Given the description of an element on the screen output the (x, y) to click on. 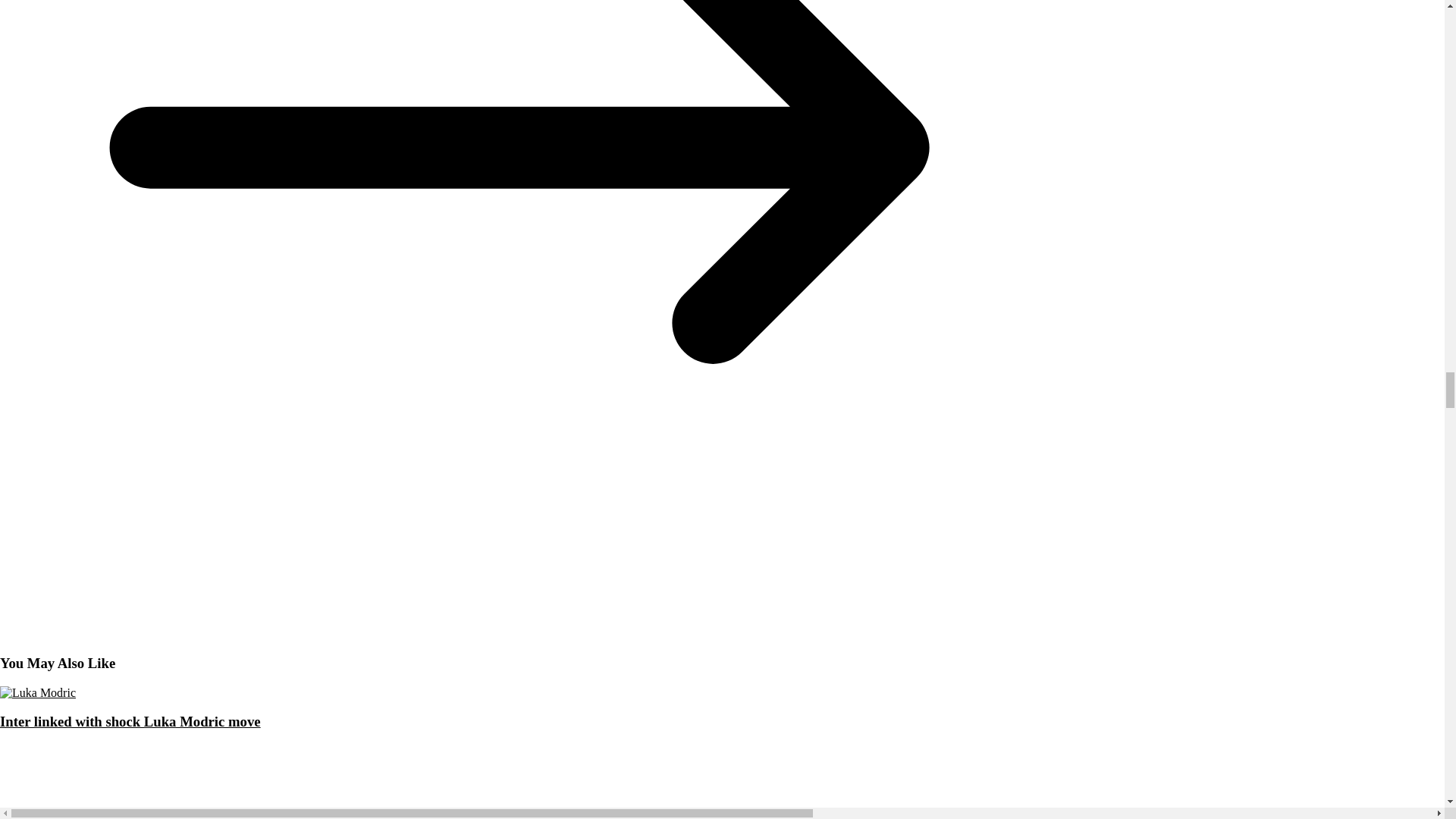
Inter linked with shock Luka Modric move (37, 692)
Inter linked with shock Luka Modric move (130, 721)
